Given the description of an element on the screen output the (x, y) to click on. 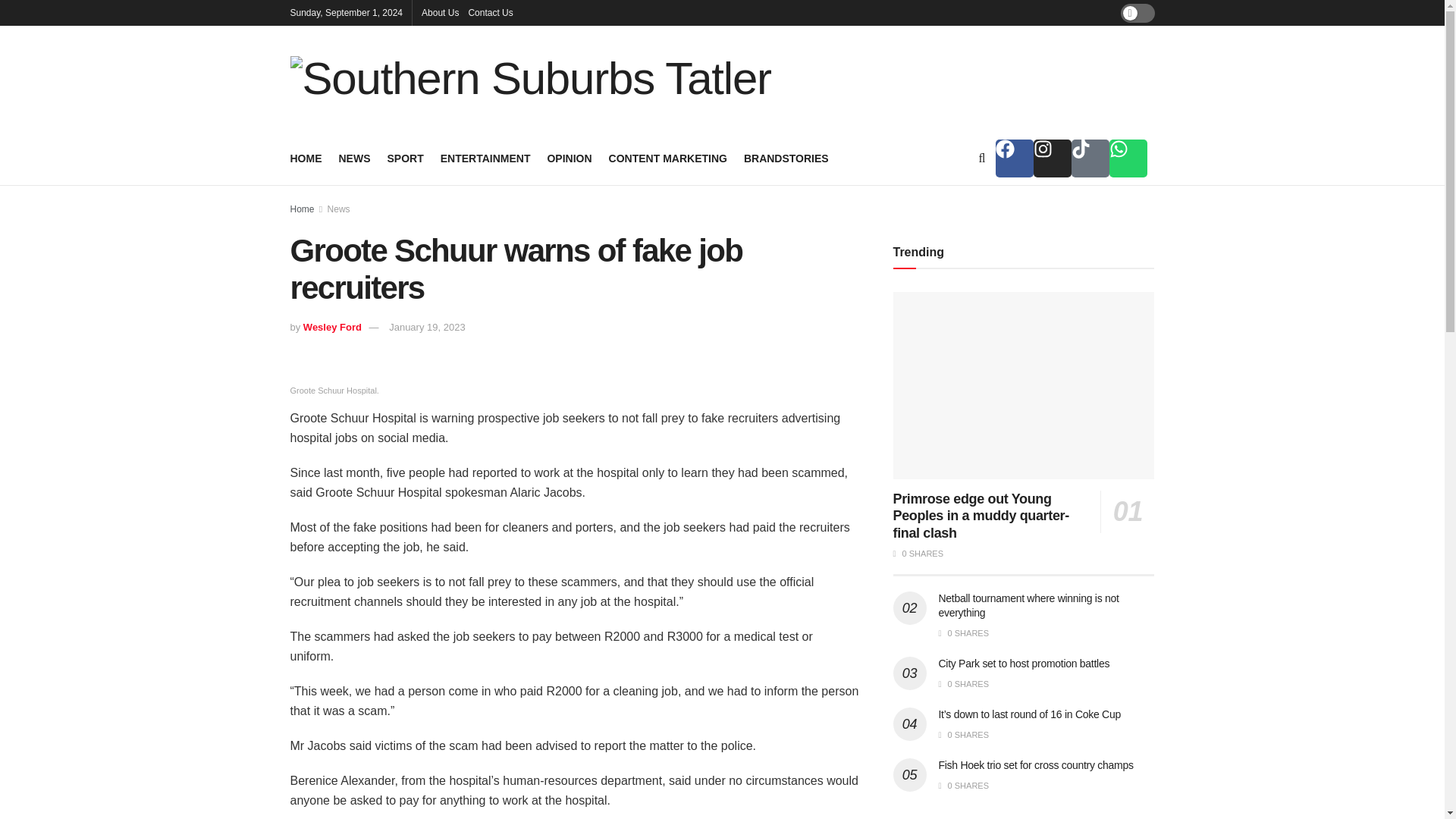
SPORT (405, 158)
OPINION (569, 158)
NEWS (353, 158)
January 19, 2023 (426, 326)
BRANDSTORIES (786, 158)
HOME (305, 158)
CONTENT MARKETING (667, 158)
News (338, 208)
Contact Us (489, 12)
Home (301, 208)
